Given the description of an element on the screen output the (x, y) to click on. 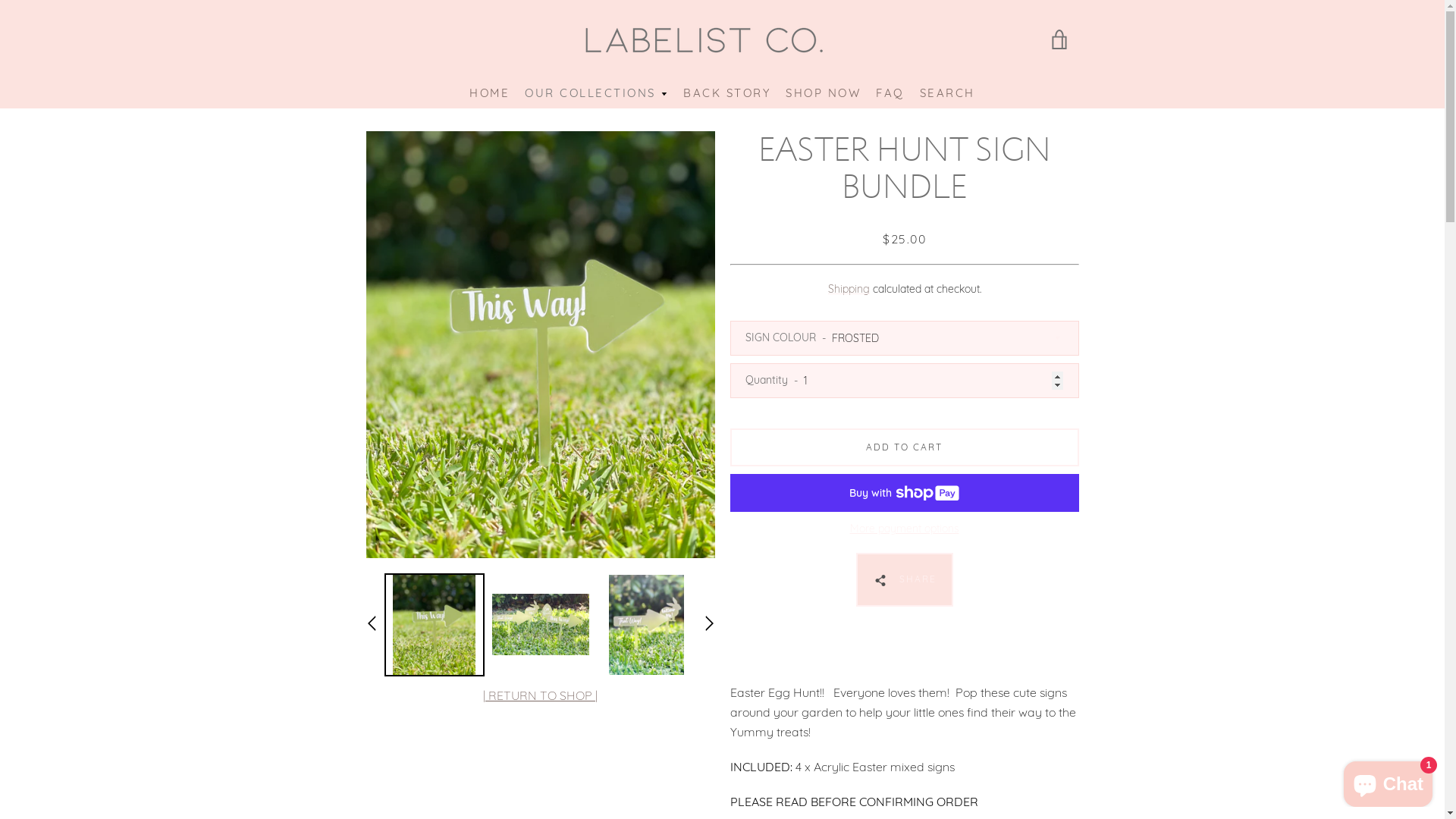
SHOP NOW Element type: text (823, 93)
HOME Element type: text (489, 93)
FAQ Element type: text (954, 669)
RETURN POLICY Element type: text (804, 669)
ADD TO CART Element type: text (903, 447)
SHIPPING POLICY Element type: text (607, 669)
Facebook Element type: text (372, 768)
SEARCH Element type: text (947, 93)
Labelist Co. Element type: text (762, 759)
Shipping Element type: text (848, 288)
| RETURN TO SHOP | Element type: text (540, 694)
CONTACT US Element type: text (894, 669)
PRIVACY POLICY Element type: text (707, 669)
MY ACCOUNT Element type: text (1017, 669)
BACK STORY Element type: text (726, 93)
Design By Treecey Comms Element type: text (722, 778)
More payment options Element type: text (903, 528)
BLOG Element type: text (722, 700)
Shopify online store chat Element type: hover (1388, 780)
TERMS OF SERVICE Element type: text (498, 669)
SEARCH Element type: text (414, 669)
Instagram Element type: text (398, 768)
SHARE Element type: text (903, 578)
OUR COLLECTIONS
OUR COLLECTIONS MENU Element type: text (596, 93)
FAQ Element type: text (890, 93)
VIEW CART Element type: text (1059, 40)
Skip to content Element type: text (0, 0)
